Given the description of an element on the screen output the (x, y) to click on. 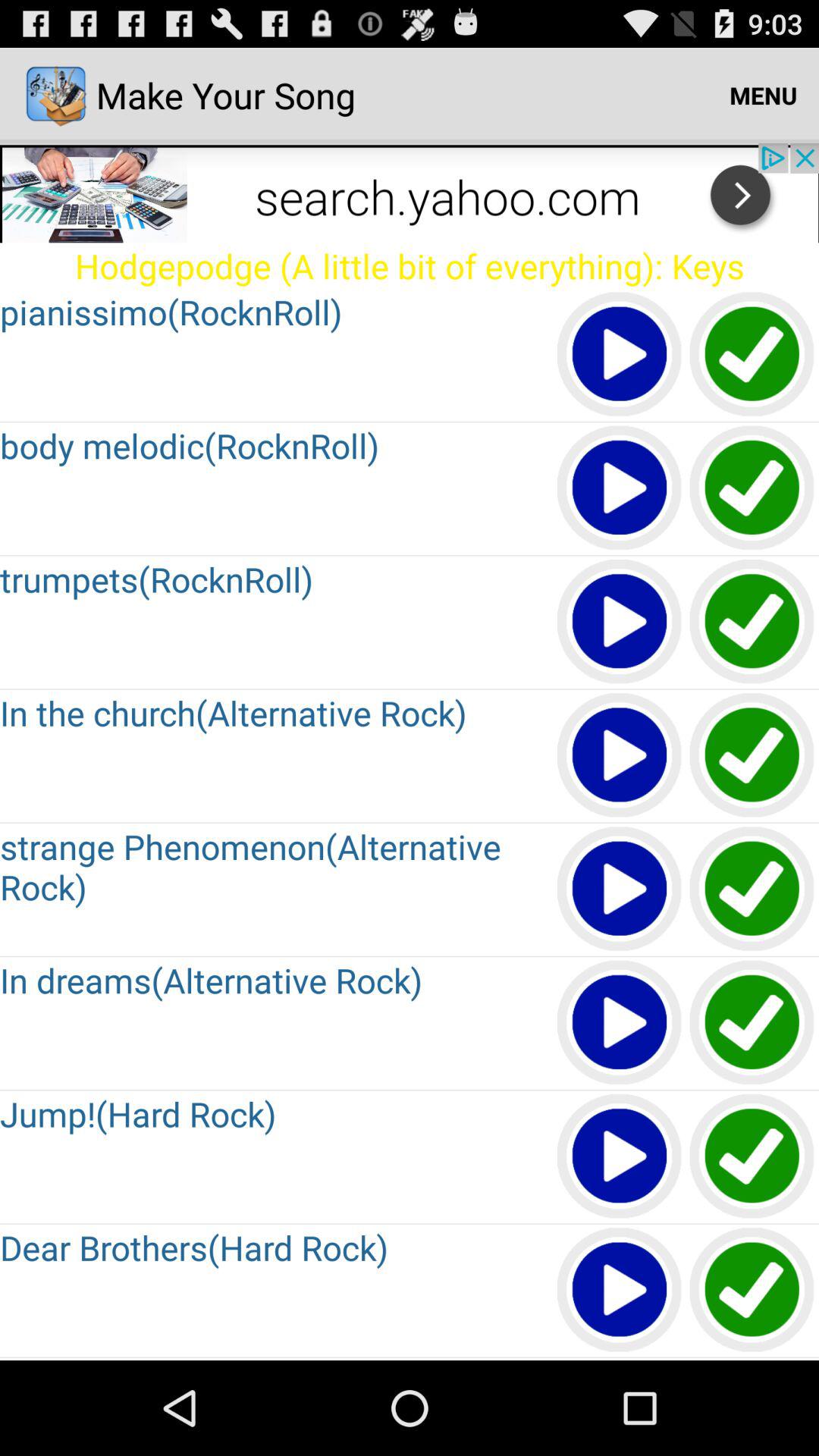
tik option (752, 1290)
